Given the description of an element on the screen output the (x, y) to click on. 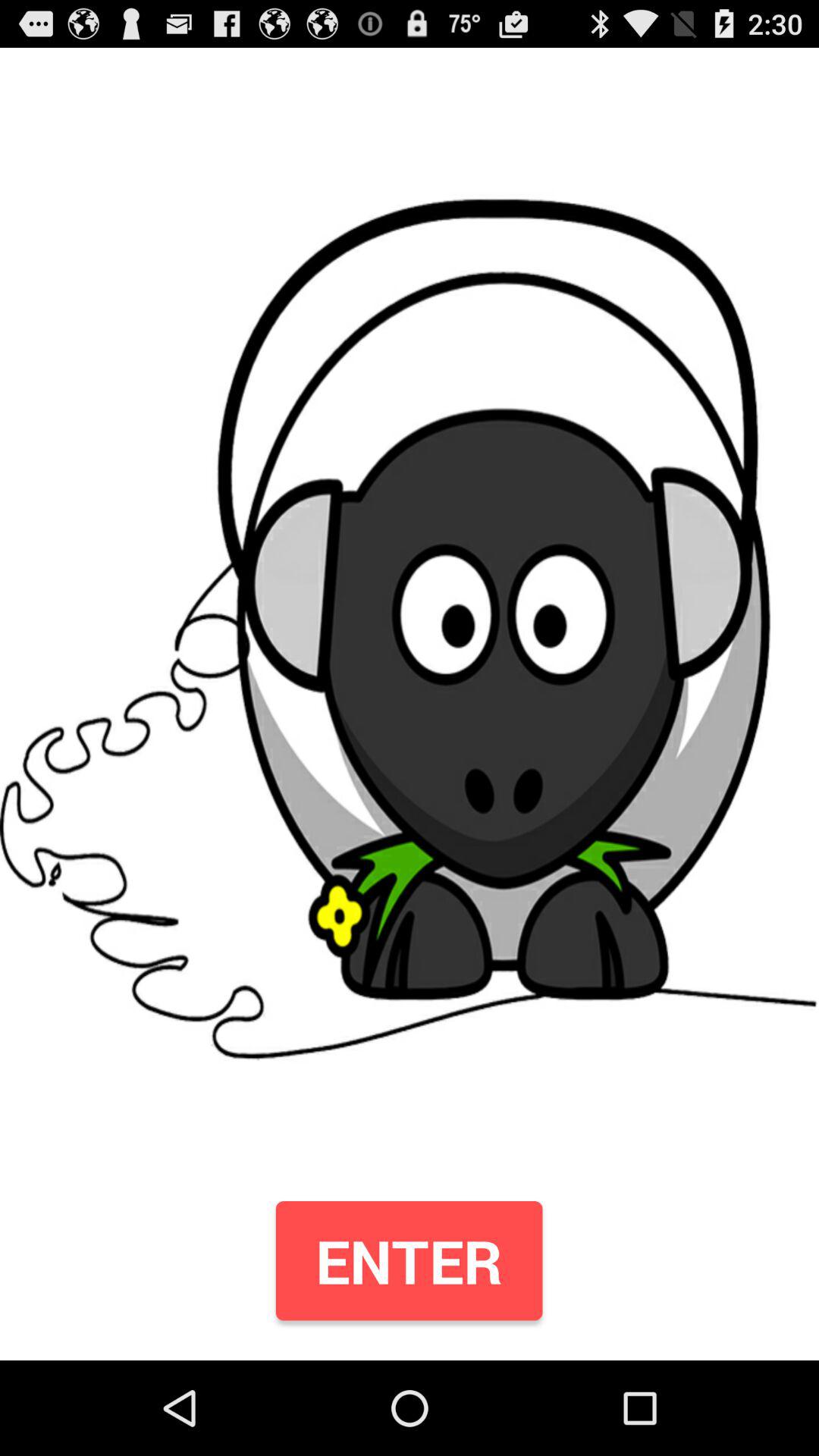
launch enter (408, 1260)
